Given the description of an element on the screen output the (x, y) to click on. 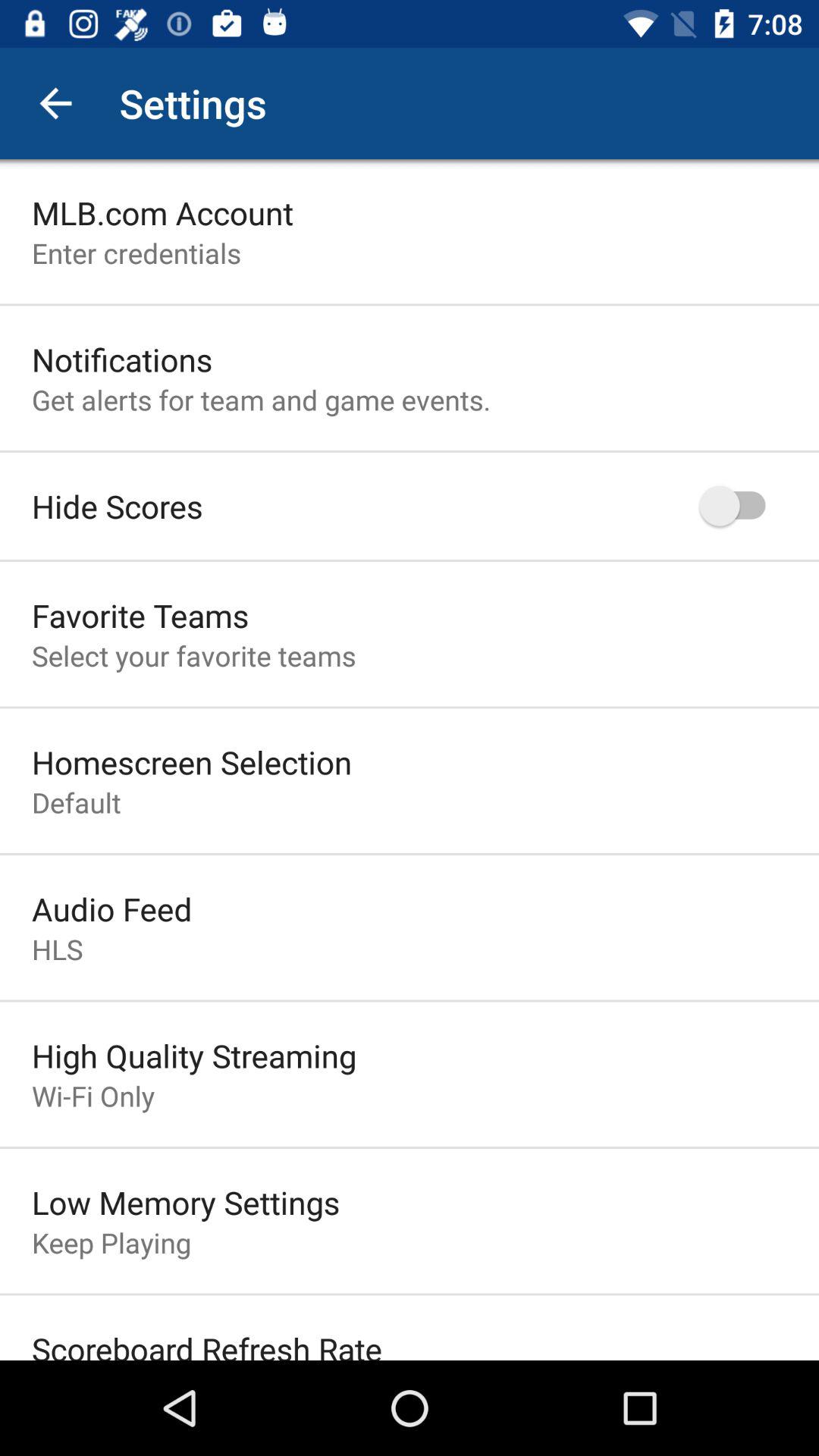
tap keep playing icon (111, 1242)
